Given the description of an element on the screen output the (x, y) to click on. 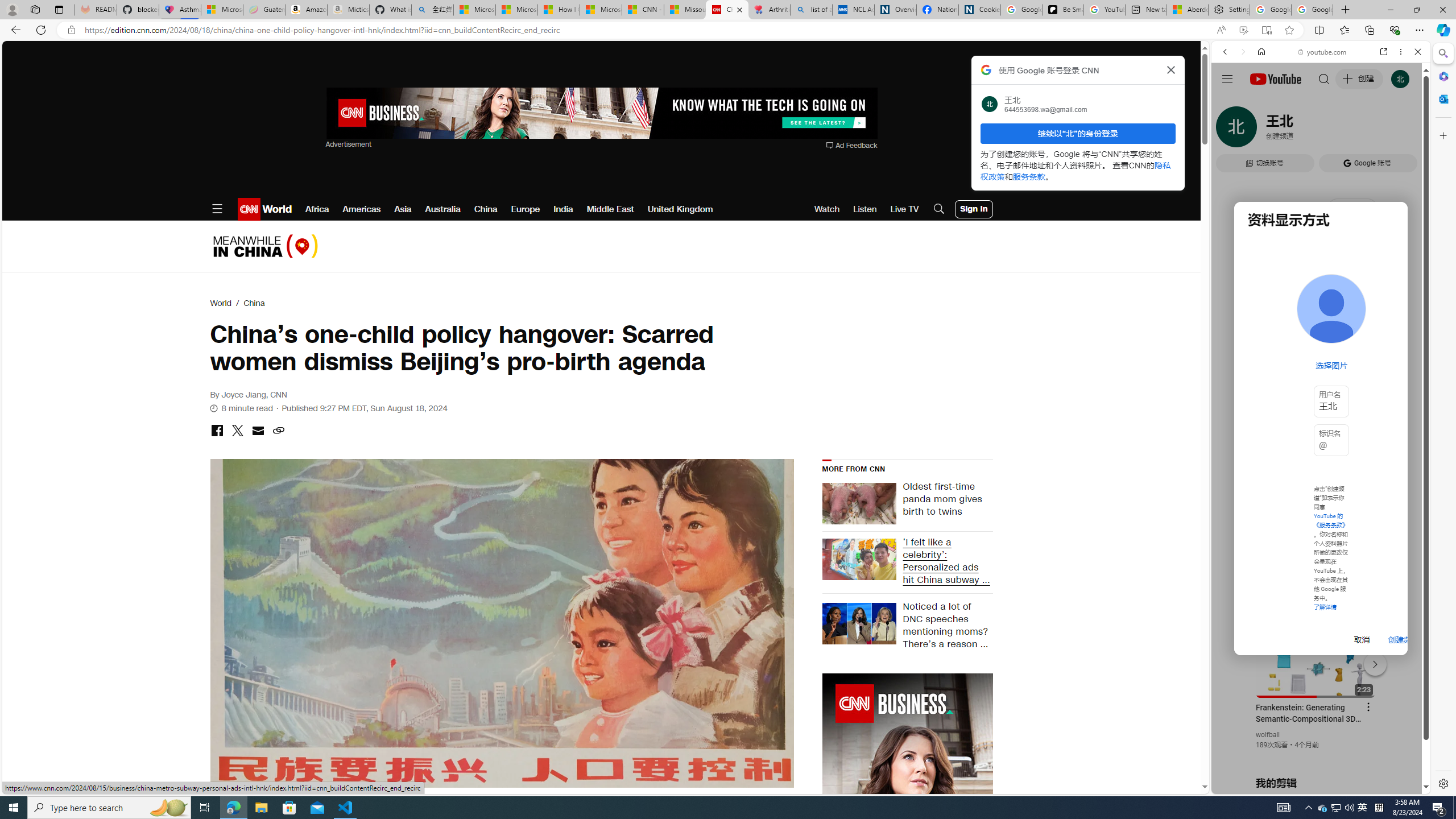
China (253, 303)
Music (1320, 309)
This site scope (1259, 102)
Click to scroll right (1407, 456)
SEARCH TOOLS (1350, 130)
